Given the description of an element on the screen output the (x, y) to click on. 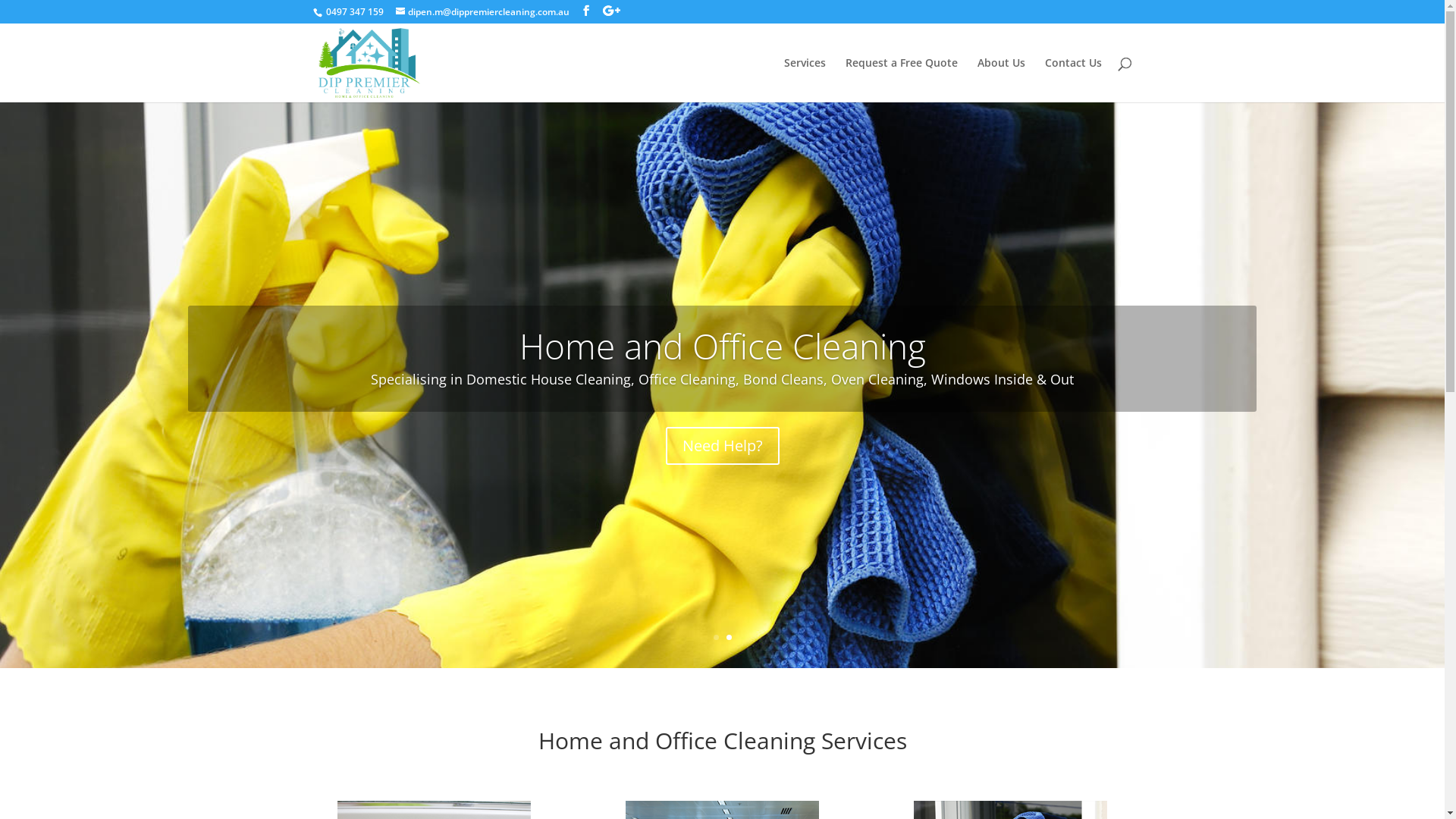
Request a Free Quote Element type: text (900, 79)
Services Element type: text (804, 79)
About Us Element type: text (1000, 79)
Contact Us Element type: text (1072, 79)
Need Help? Element type: text (722, 445)
2 Element type: text (728, 637)
dipen.m@dippremiercleaning.com.au Element type: text (482, 11)
Home and Office Cleaning Element type: text (721, 345)
1 Element type: text (715, 637)
